Given the description of an element on the screen output the (x, y) to click on. 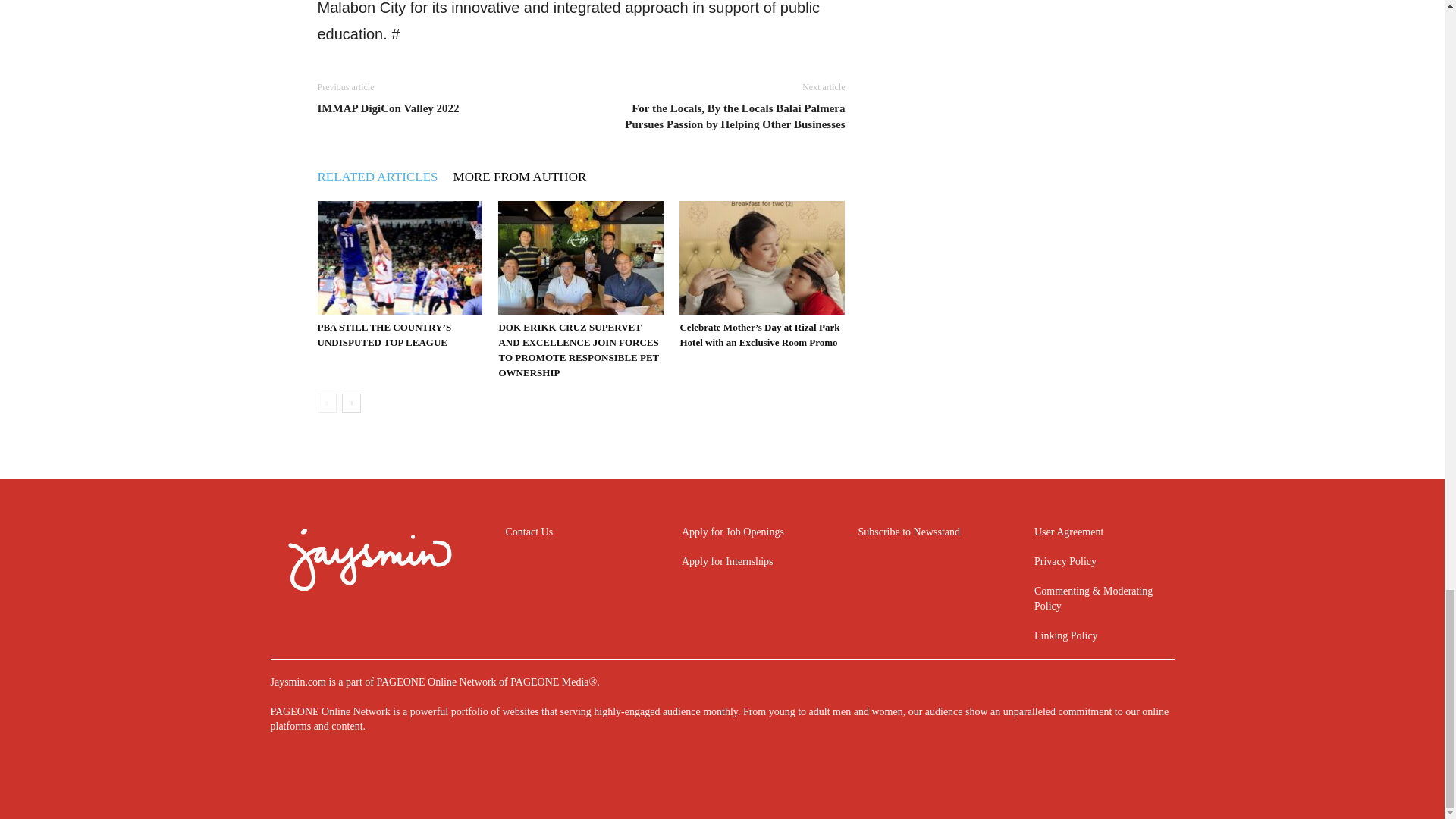
MORE FROM AUTHOR (527, 177)
RELATED ARTICLES (384, 177)
IMMAP DigiCon Valley 2022 (387, 108)
